Given the description of an element on the screen output the (x, y) to click on. 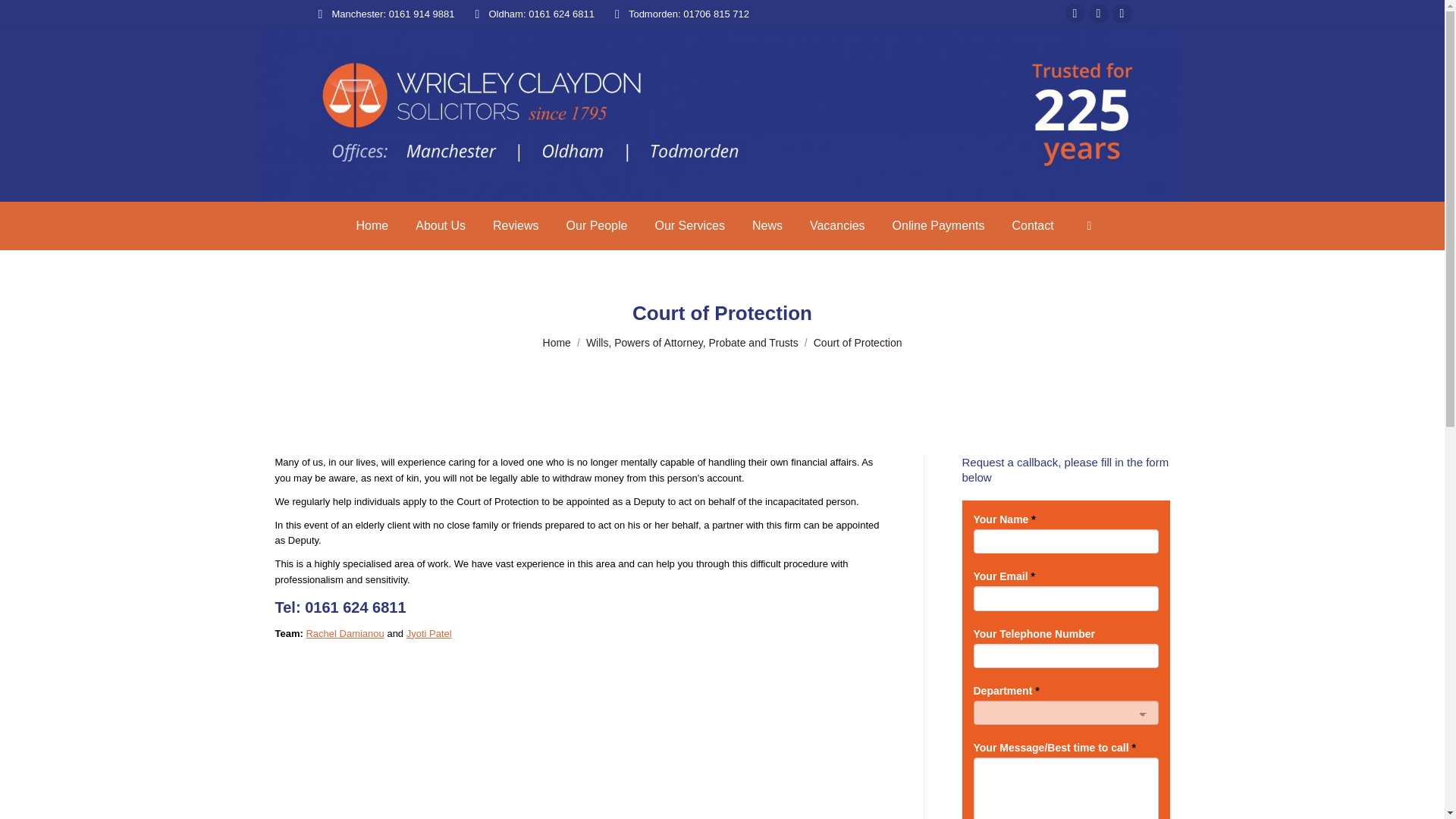
X page opens in new window (1098, 13)
About Us (440, 225)
Home (556, 342)
Facebook page opens in new window (1074, 13)
Instagram page opens in new window (1122, 13)
Reviews (515, 225)
Our Services (688, 225)
Rachel Damianou, Partner (344, 633)
Our People (596, 225)
Wills, Powers of Attorney, Probate and Trusts (691, 342)
Home (372, 225)
